Given the description of an element on the screen output the (x, y) to click on. 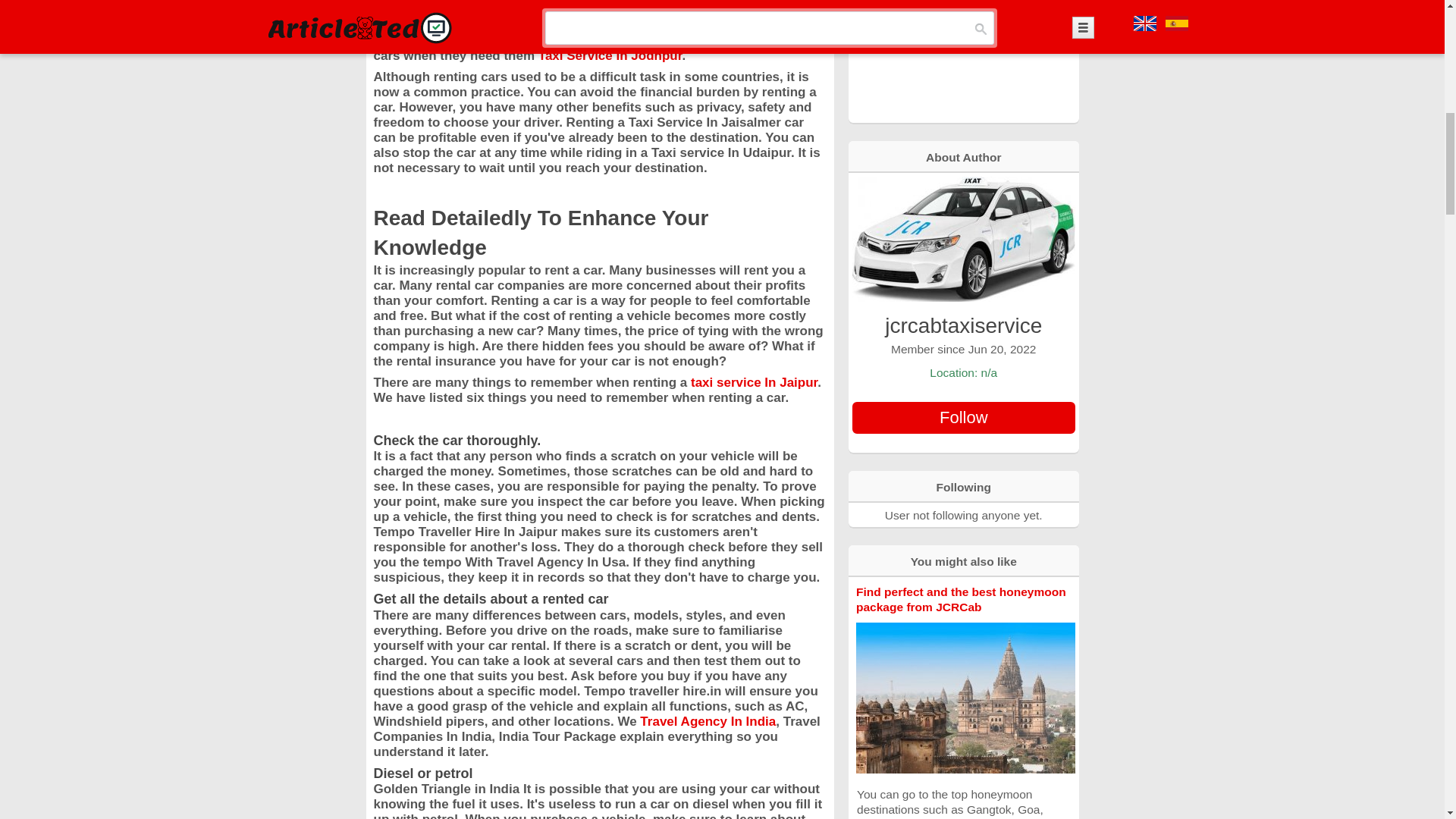
Taxi Service In Jodhpur (610, 55)
taxi service In Jaipur (753, 382)
Follow (963, 418)
Travel Agency In India (708, 721)
Find perfect and the best honeymoon package from JCRCab (960, 599)
